Given the description of an element on the screen output the (x, y) to click on. 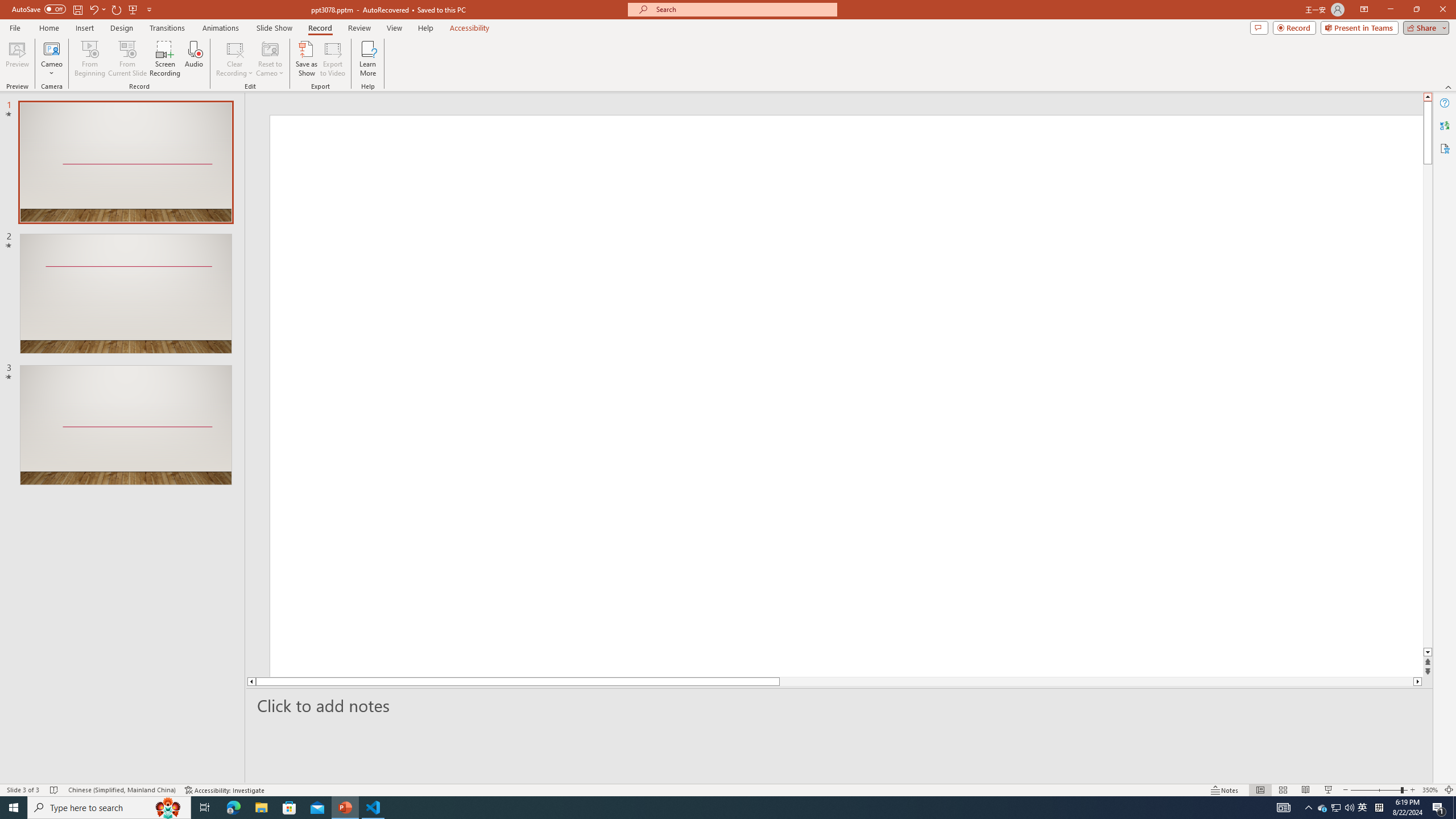
Zoom 350% (1430, 790)
